Given the description of an element on the screen output the (x, y) to click on. 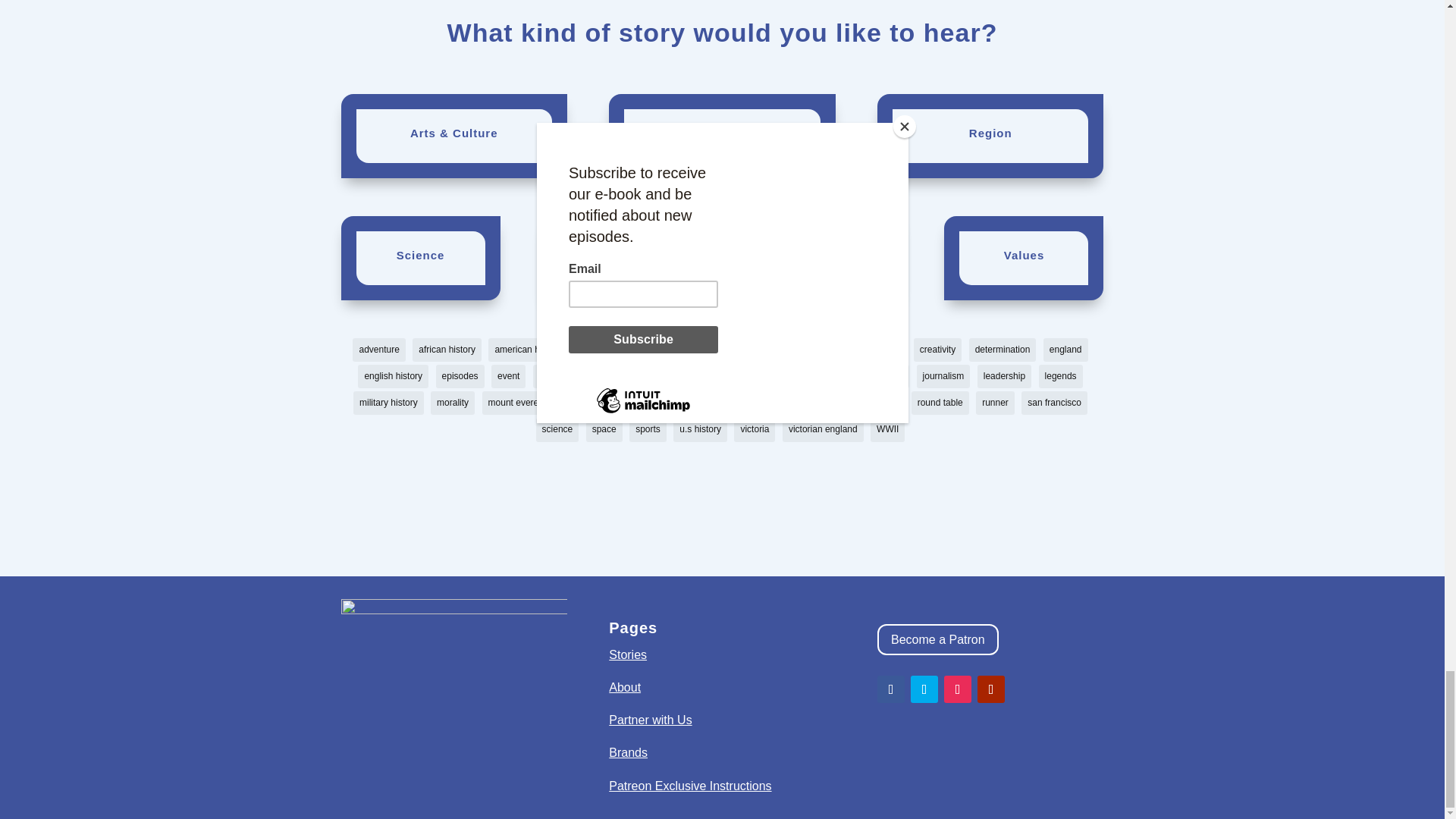
Follow on Instagram (957, 688)
Follow on Facebook (890, 688)
Follow on Youtube (990, 688)
logo-with-purple-background (453, 662)
Follow on Twitter (924, 688)
